Given the description of an element on the screen output the (x, y) to click on. 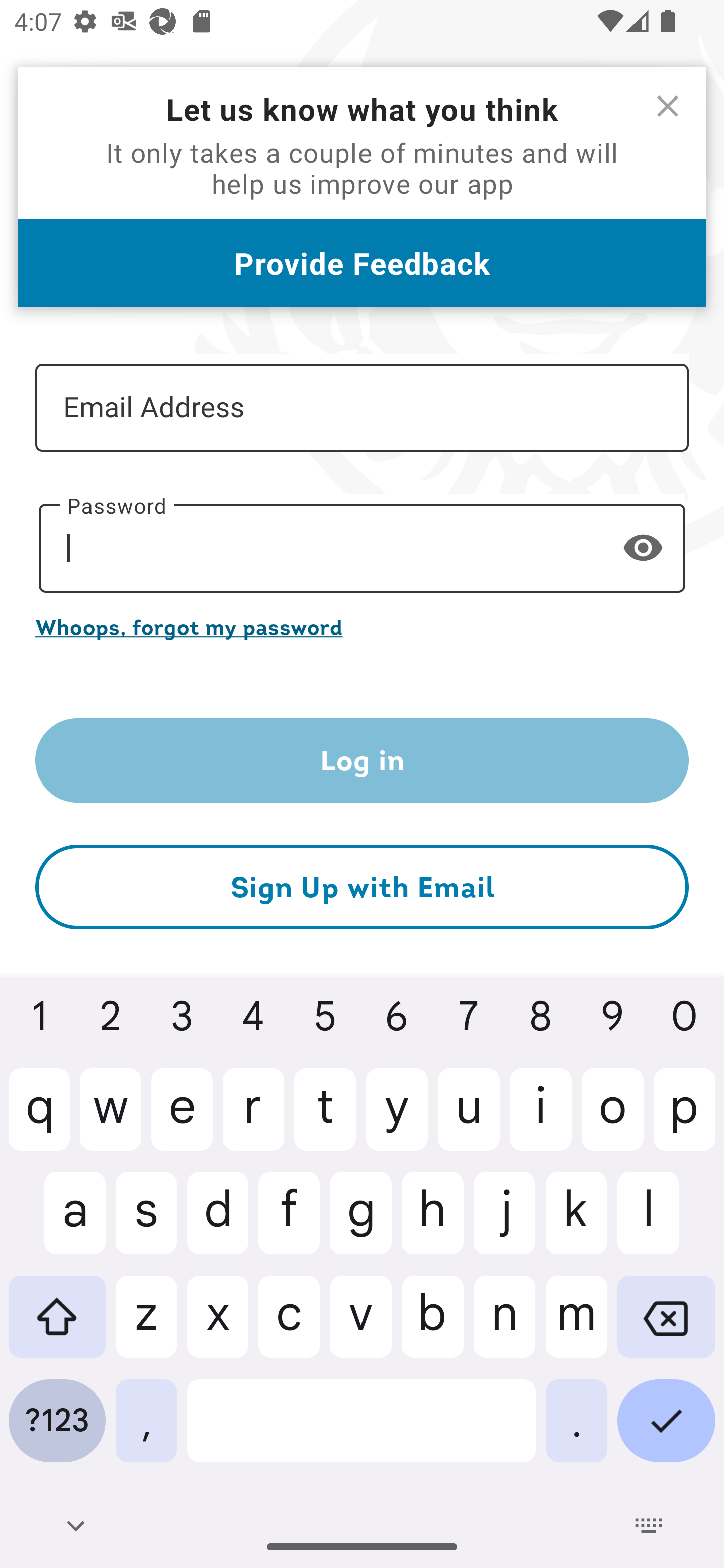
Navigate up (49, 91)
close (667, 105)
Provide Feedback (361, 263)
Email Address (361, 407)
Password (361, 547)
Show password (642, 546)
Whoops, forgot my password (361, 627)
Log in (361, 760)
Sign Up with Email (361, 887)
